Given the description of an element on the screen output the (x, y) to click on. 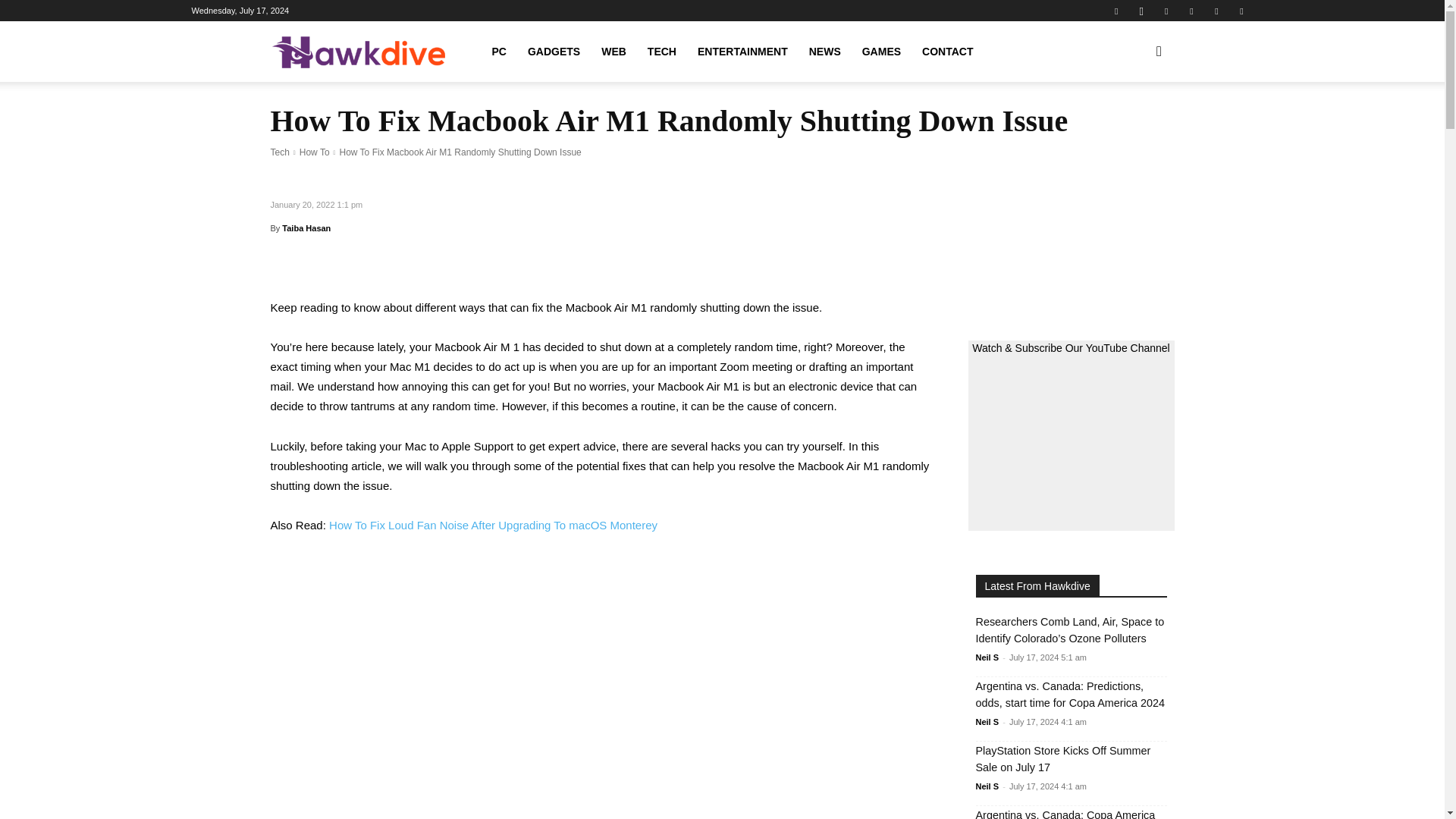
Youtube (1241, 10)
Hawkdive (357, 51)
Facebook (1115, 10)
Instagram (1141, 10)
Twitter (1216, 10)
Pinterest (1165, 10)
Telegram (1190, 10)
